Given the description of an element on the screen output the (x, y) to click on. 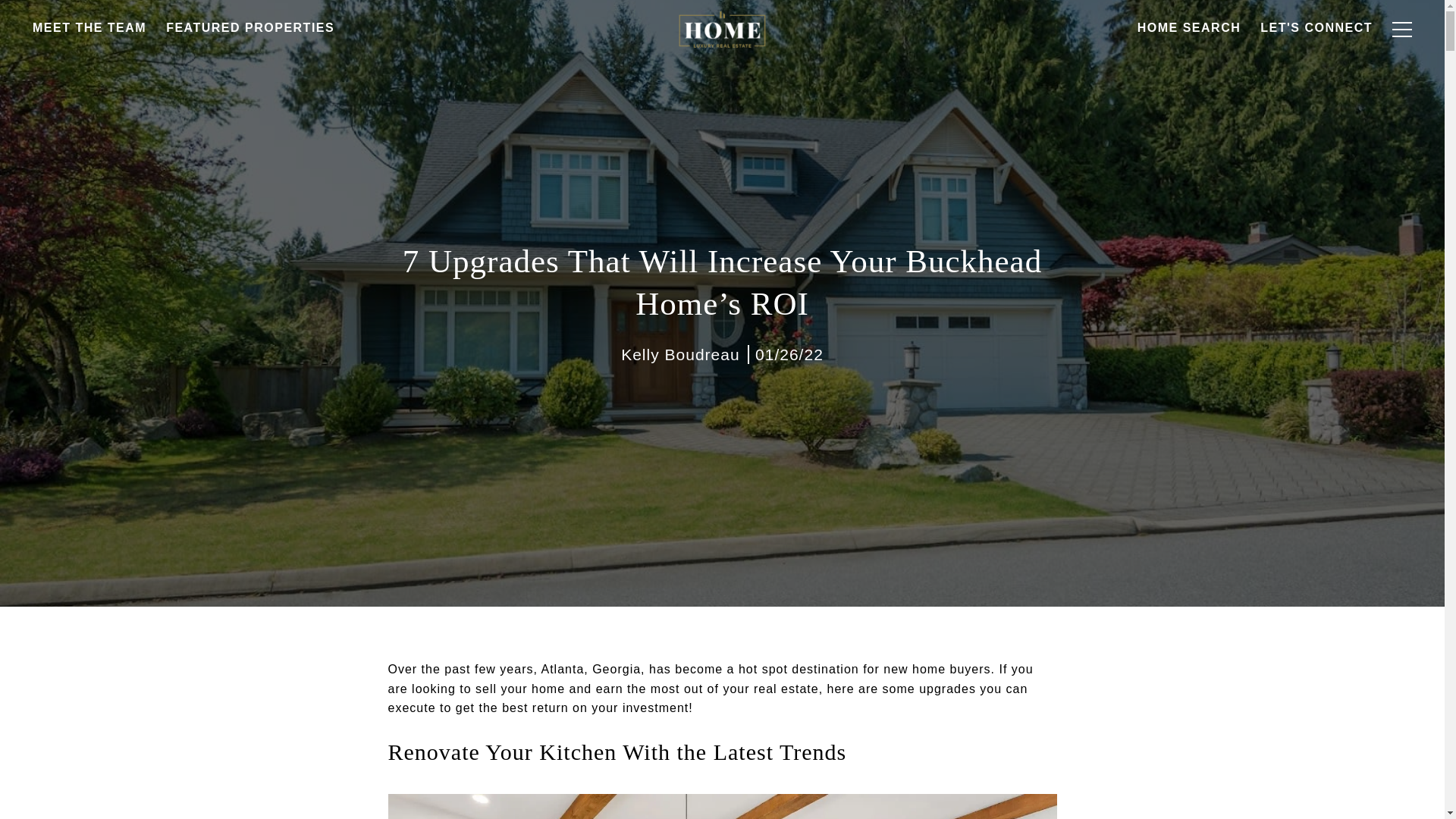
FEATURED PROPERTIES (249, 67)
HOME SEARCH (1188, 60)
MEET THE TEAM (89, 71)
LET'S CONNECT (1315, 54)
